Given the description of an element on the screen output the (x, y) to click on. 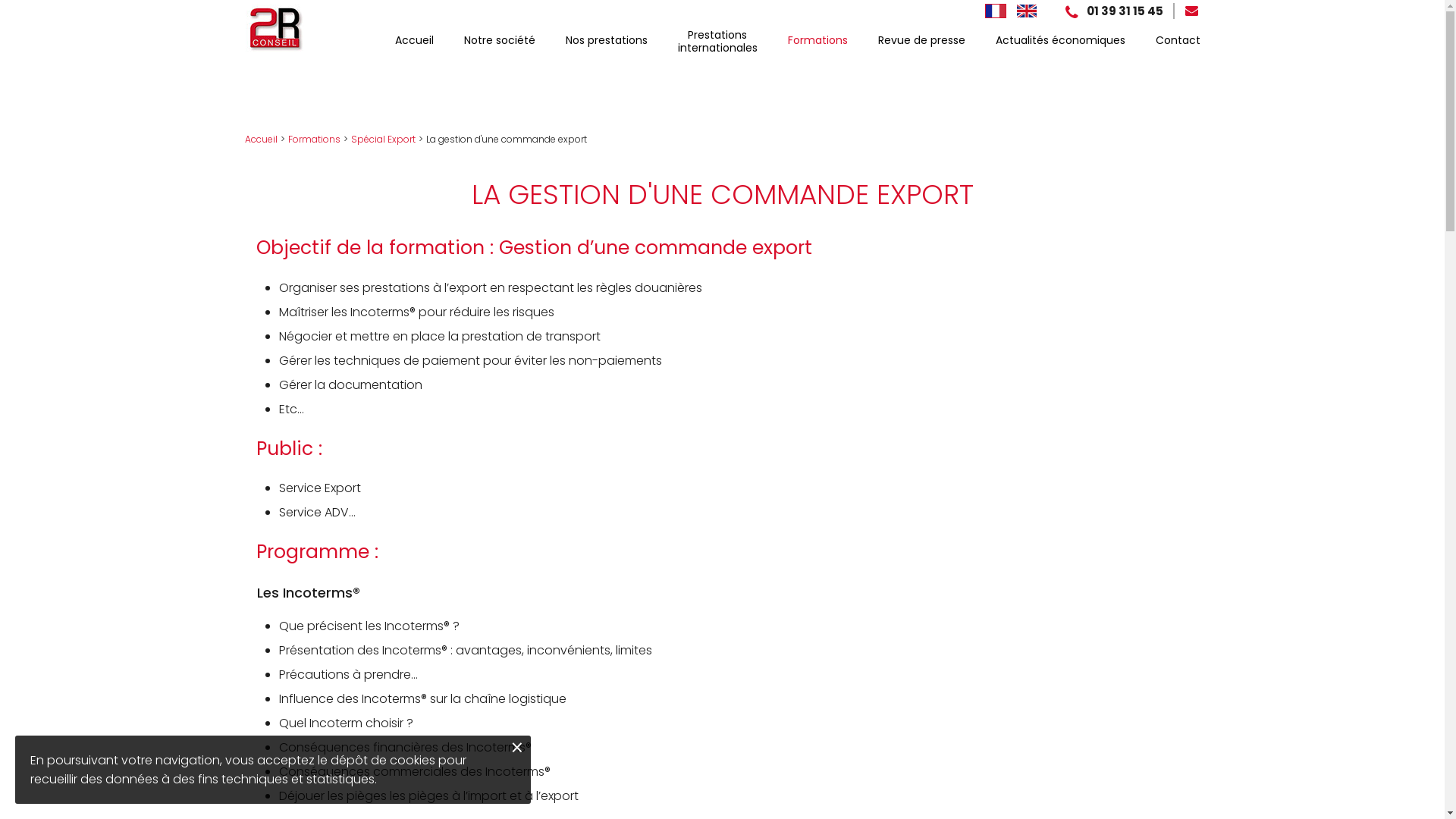
2R Conseil Element type: hover (274, 27)
Contact Element type: text (1177, 40)
Revue de presse Element type: text (921, 40)
Formations Element type: text (817, 40)
Langue anglaise Element type: hover (1026, 10)
Accueil Element type: text (413, 40)
Formations Element type: text (314, 138)
01 39 31 15 45 Element type: text (1113, 10)
Accueil Element type: text (260, 138)
